Given the description of an element on the screen output the (x, y) to click on. 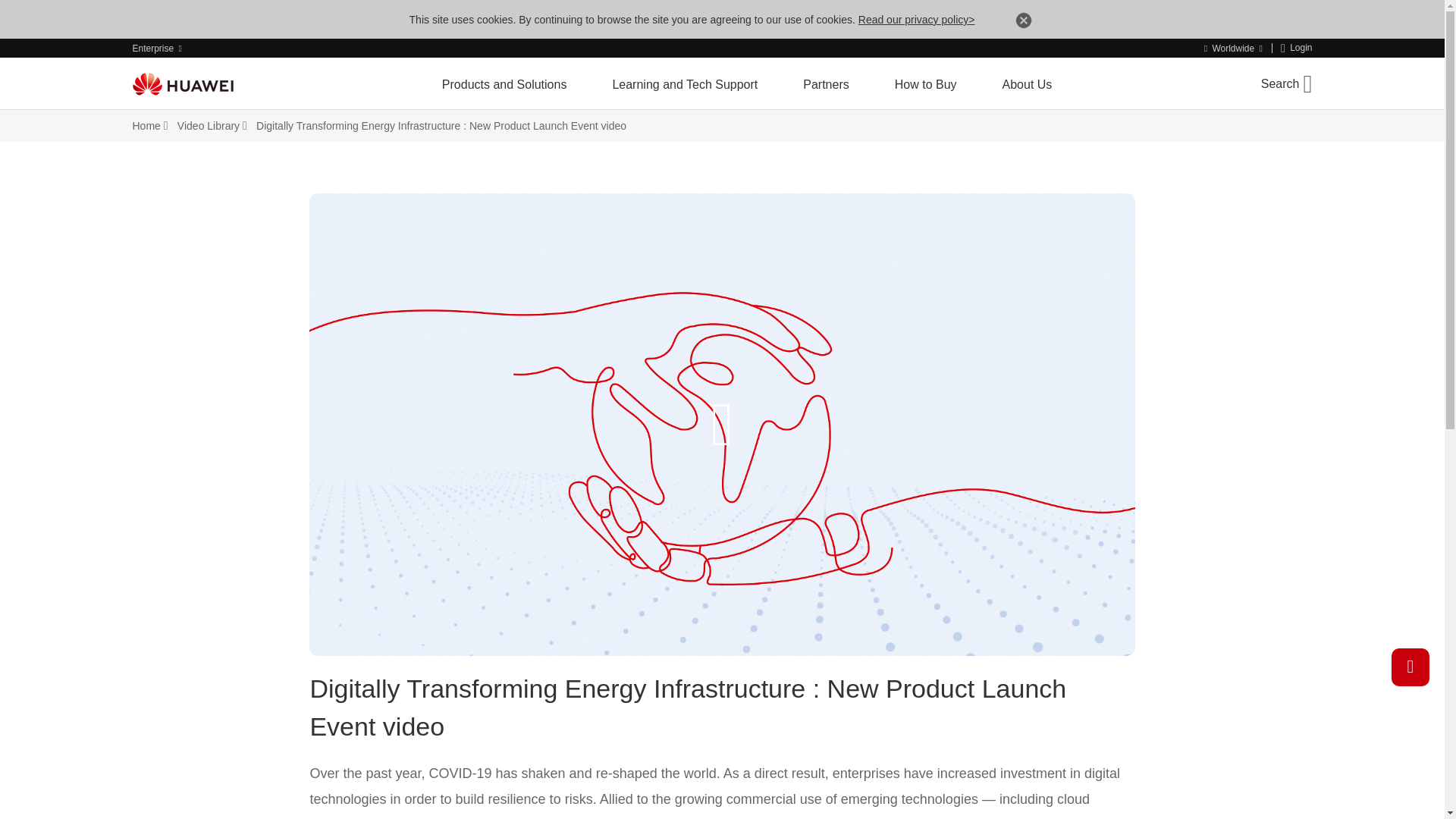
Huawei (182, 83)
Close (1023, 22)
Login (1296, 48)
